Given the description of an element on the screen output the (x, y) to click on. 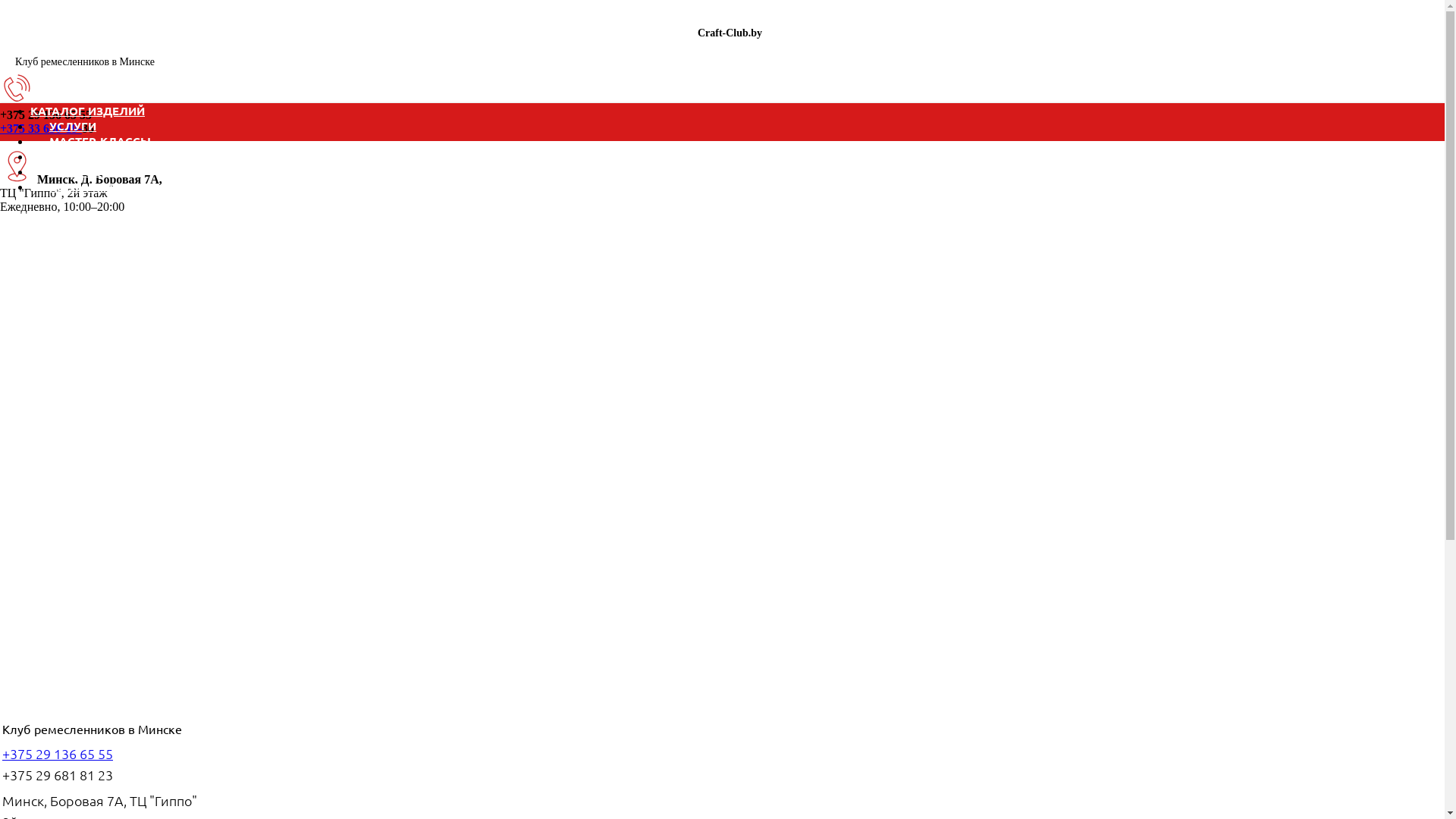
+375 33 630-19- Element type: text (40, 128)
+375 29 136 65 55 Element type: text (57, 753)
